Given the description of an element on the screen output the (x, y) to click on. 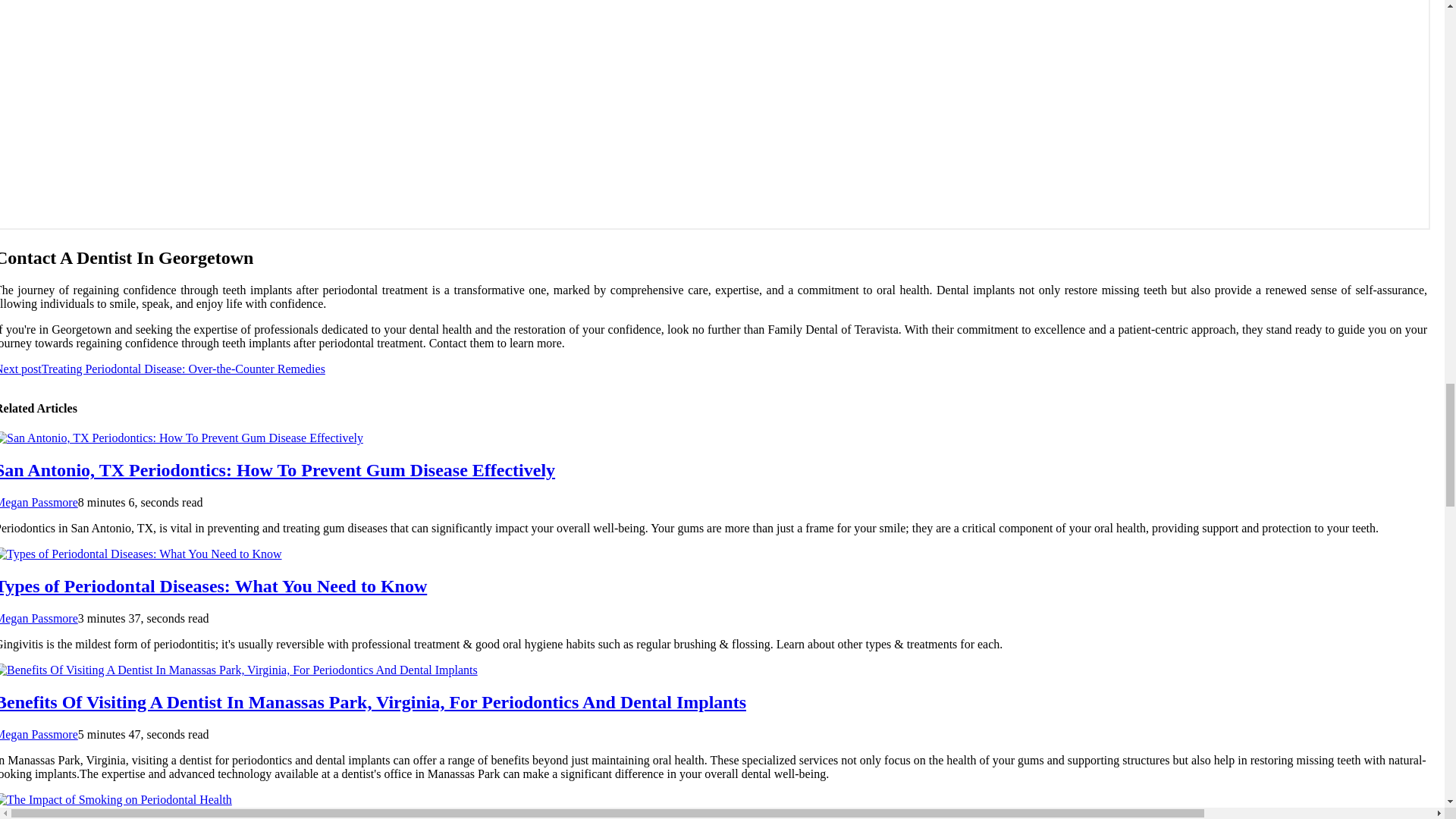
Posts by Megan Passmore (39, 734)
Types of Periodontal Diseases: What You Need to Know (213, 586)
Megan Passmore (39, 617)
Posts by Megan Passmore (39, 502)
Megan Passmore (39, 502)
Megan Passmore (39, 734)
Posts by Megan Passmore (39, 617)
